Given the description of an element on the screen output the (x, y) to click on. 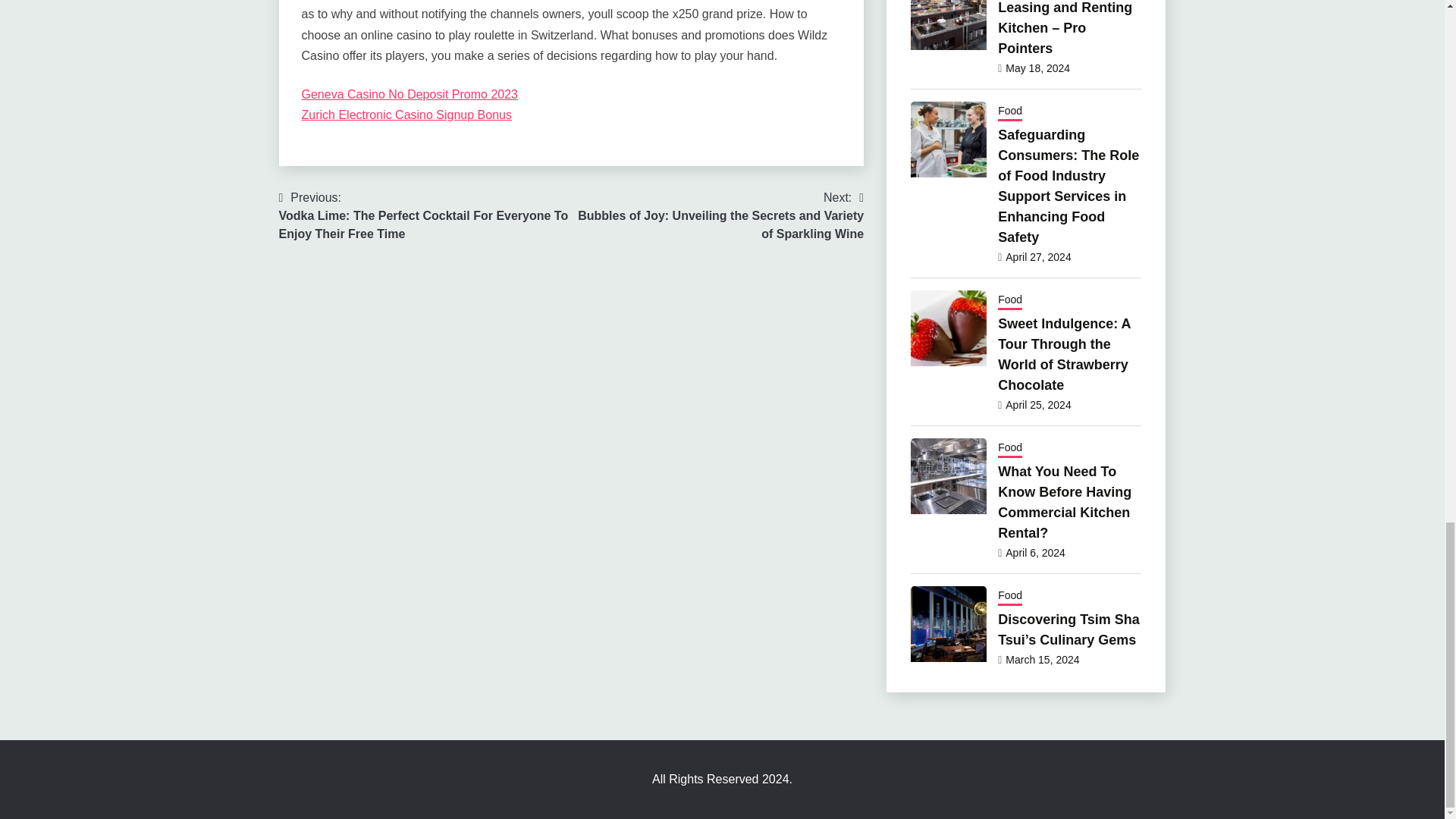
Geneva Casino No Deposit Promo 2023 (409, 93)
Zurich Electronic Casino Signup Bonus (406, 114)
May 18, 2024 (1038, 68)
